Given the description of an element on the screen output the (x, y) to click on. 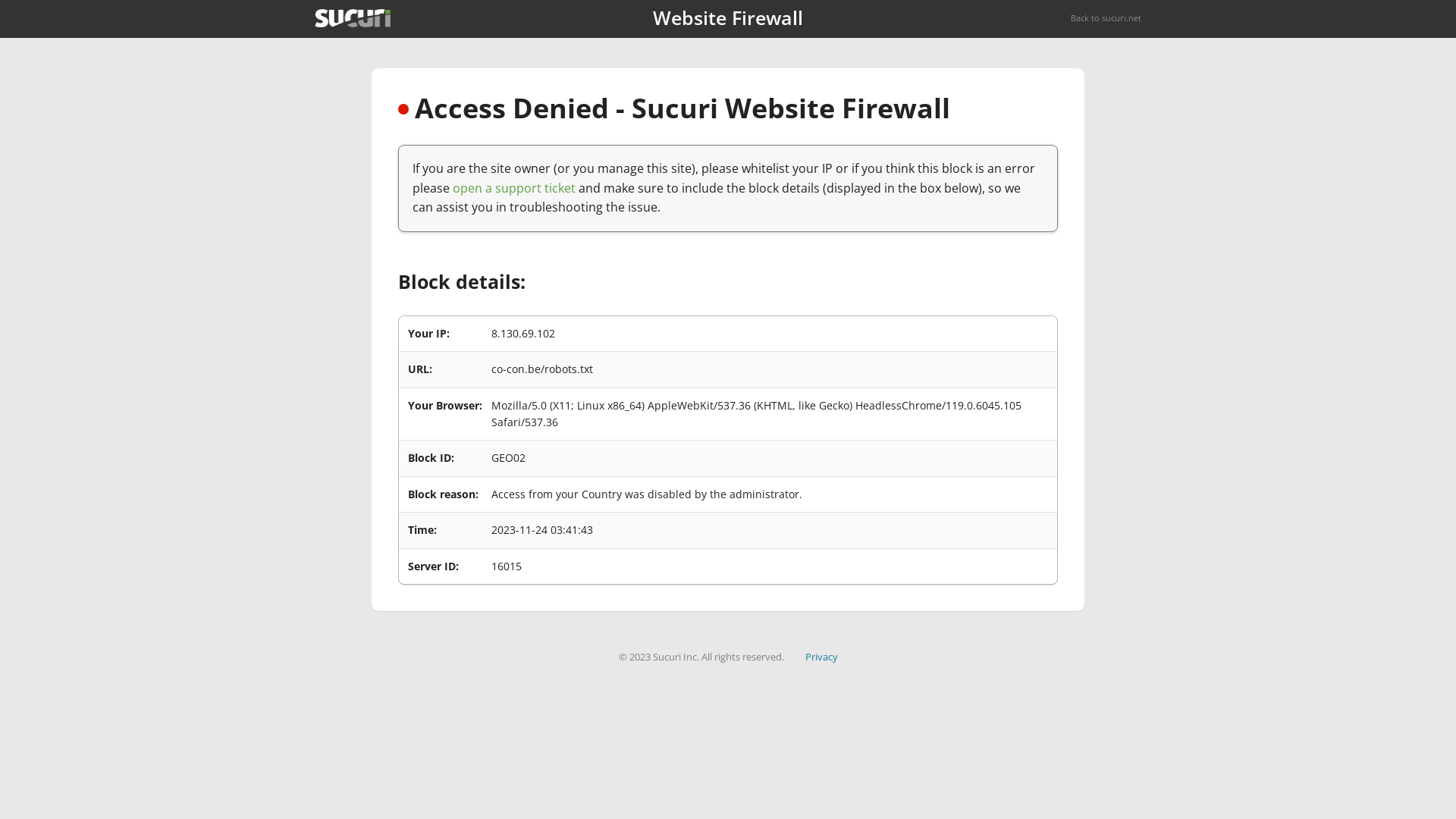
Privacy Element type: text (821, 656)
open a support ticket Element type: text (513, 187)
Back to sucuri.net Element type: text (1105, 18)
